Given the description of an element on the screen output the (x, y) to click on. 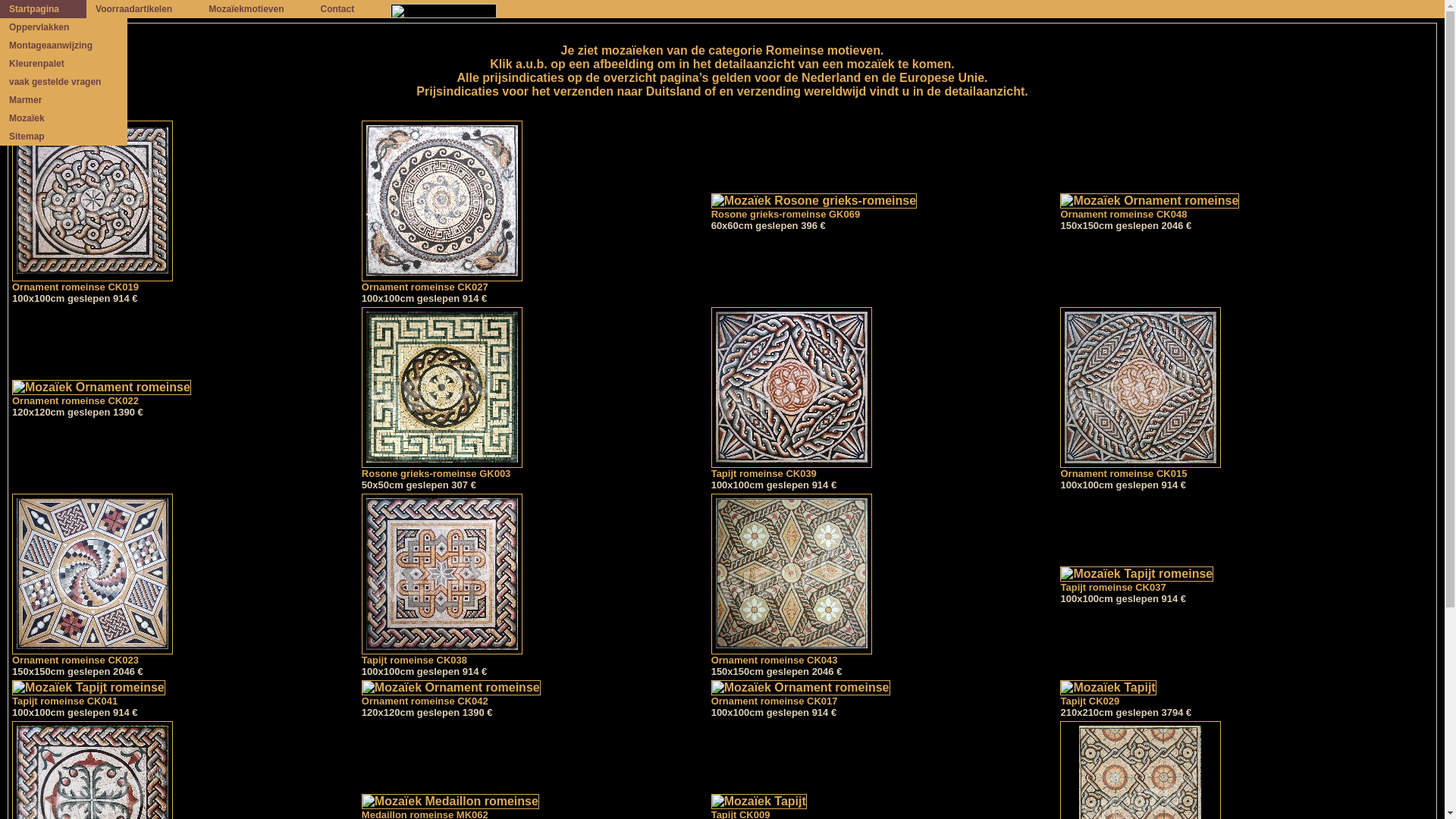
Ornament romeinse CK022 Element type: text (101, 393)
Tapijt CK029 Element type: text (1107, 693)
Ornament romeinse CK017 Element type: text (800, 693)
Marmer Element type: text (63, 100)
Tapijt romeinse CK038 Element type: text (441, 654)
Oppervlakken Element type: text (63, 27)
Ornament romeinse CK023 Element type: text (92, 654)
Rosone grieks-romeinse GK069 Element type: text (813, 206)
Montageaanwijzing Element type: text (63, 45)
Rosone grieks-romeinse GK003 Element type: text (441, 468)
Contact Element type: text (346, 9)
Ornament romeinse CK043 Element type: text (791, 654)
Ornament romeinse CK027 Element type: text (441, 281)
Startpagina Element type: text (43, 9)
choose language Element type: hover (452, 9)
Voorraadartikelen Element type: text (142, 9)
vaak gestelde vragen Element type: text (63, 81)
Ornament romeinse CK015 Element type: text (1140, 468)
Tapijt romeinse CK037 Element type: text (1136, 580)
Ornament romeinse CK048 Element type: text (1149, 206)
Tapijt romeinse CK041 Element type: text (88, 693)
Tapijt romeinse CK039 Element type: text (791, 468)
Ornament romeinse CK019 Element type: text (92, 281)
Sitemap Element type: text (63, 136)
Ornament romeinse CK042 Element type: text (450, 693)
Kleurenpalet Element type: text (63, 63)
